Given the description of an element on the screen output the (x, y) to click on. 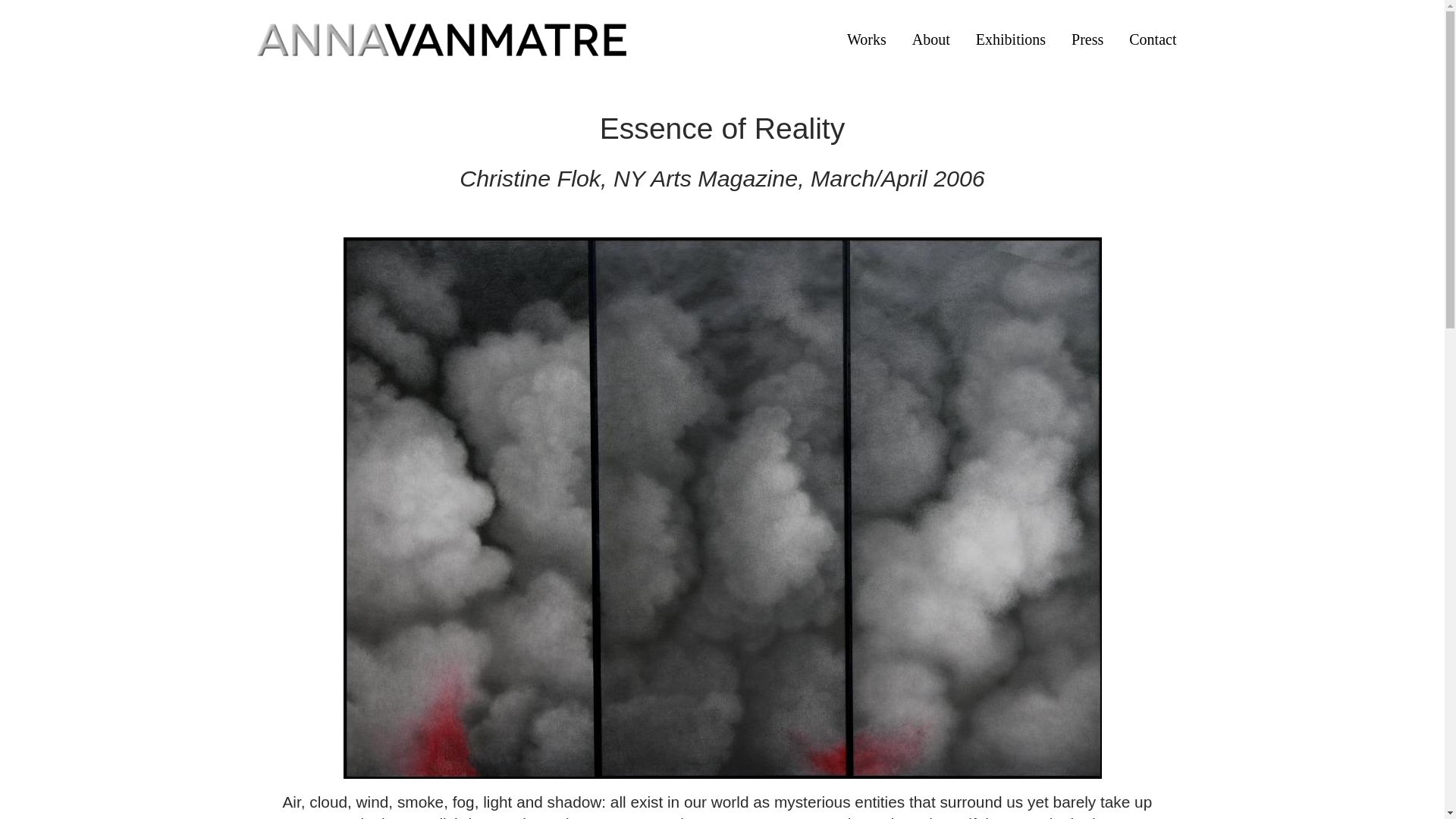
Contact (1153, 39)
Press (1087, 39)
Exhibitions (1010, 39)
About (930, 39)
Works (866, 39)
